Given the description of an element on the screen output the (x, y) to click on. 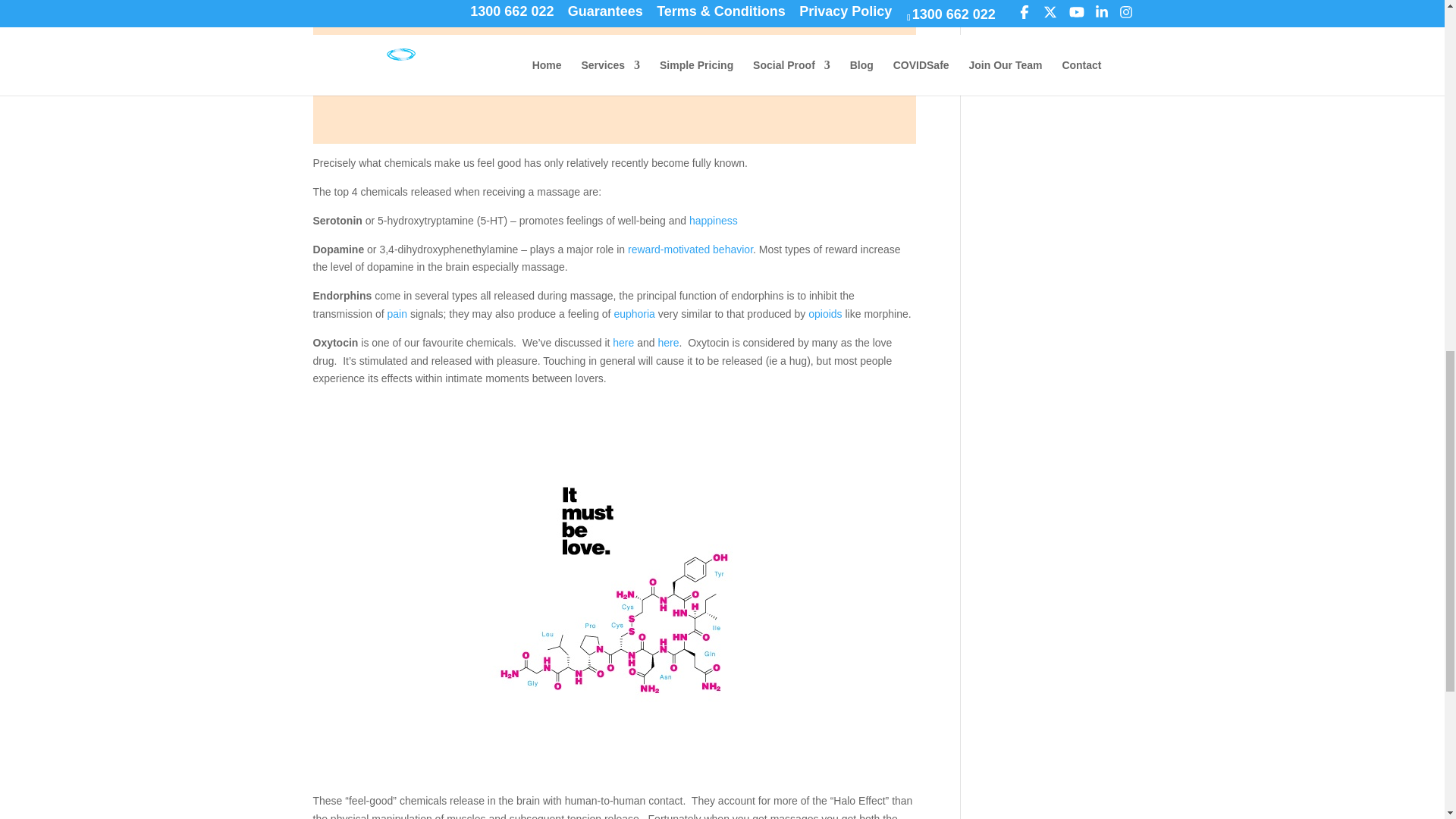
Euphoria (633, 313)
Pain (397, 313)
Reward system (689, 249)
Opioids (824, 313)
Happiness (713, 220)
